Given the description of an element on the screen output the (x, y) to click on. 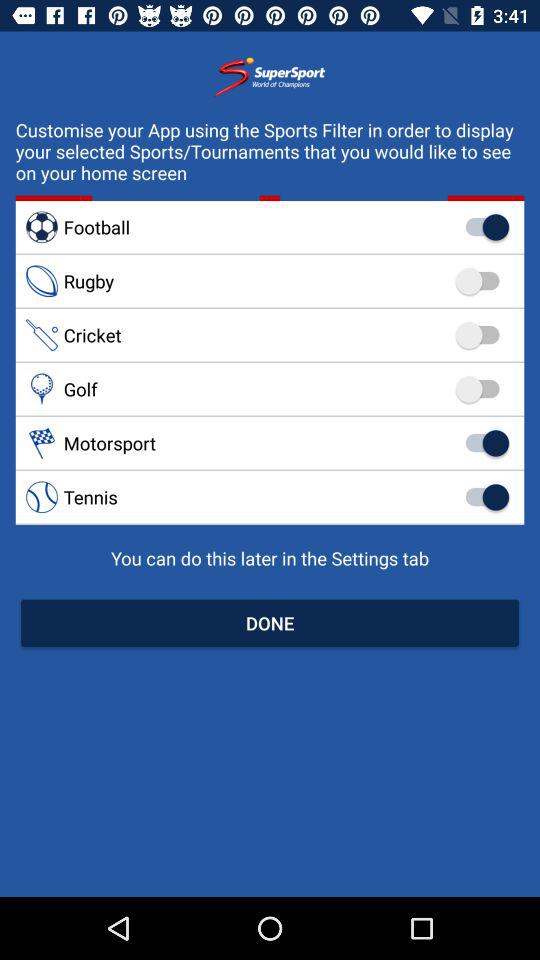
swipe until tennis (269, 496)
